Given the description of an element on the screen output the (x, y) to click on. 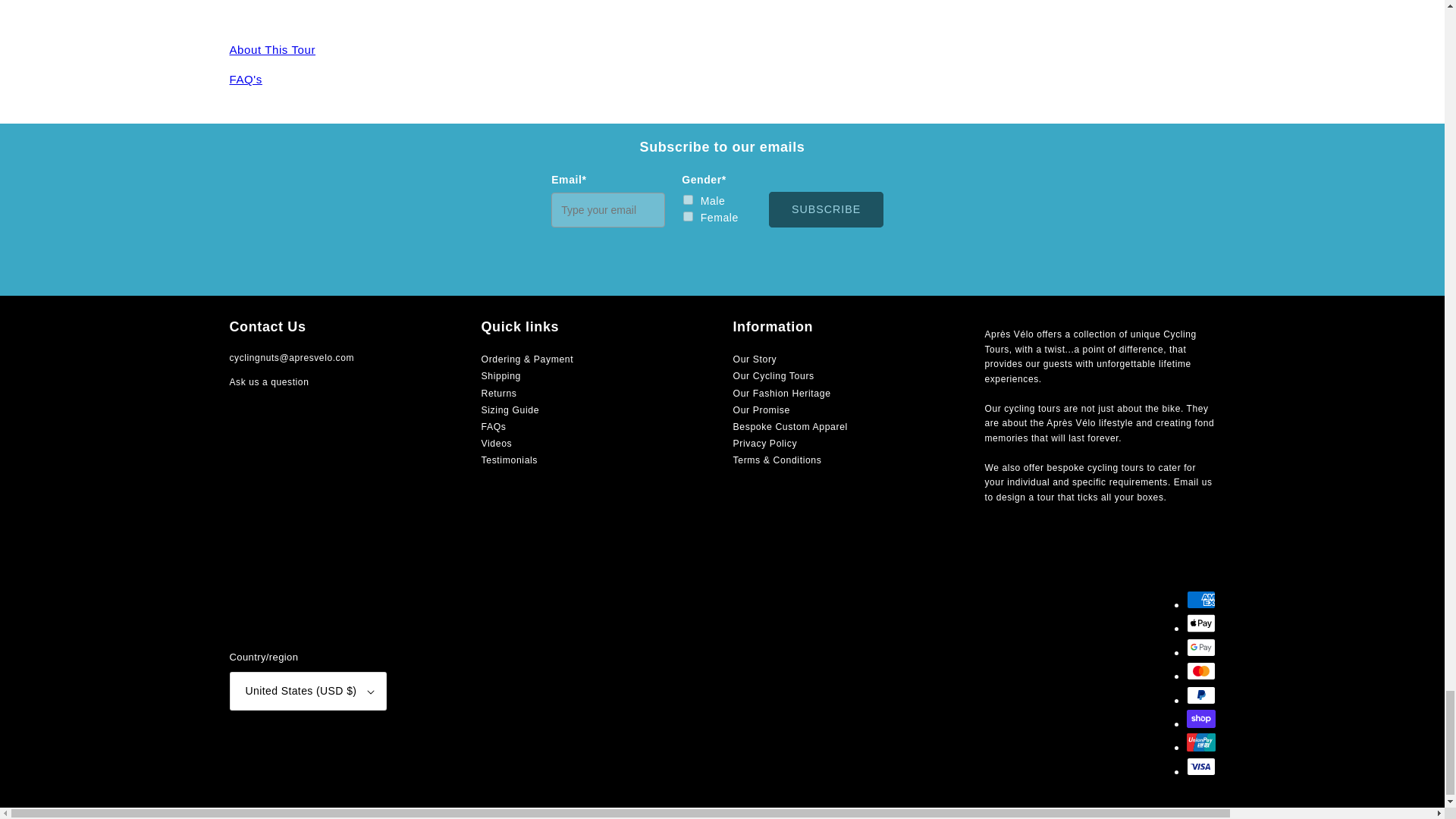
American Express (1200, 599)
Male (687, 199)
Mastercard (1200, 670)
PayPal (1200, 695)
Female (687, 216)
Union Pay (1200, 742)
Apple Pay (1200, 623)
Google Pay (1200, 647)
FAQ's (245, 78)
Shop Pay (1200, 719)
